Given the description of an element on the screen output the (x, y) to click on. 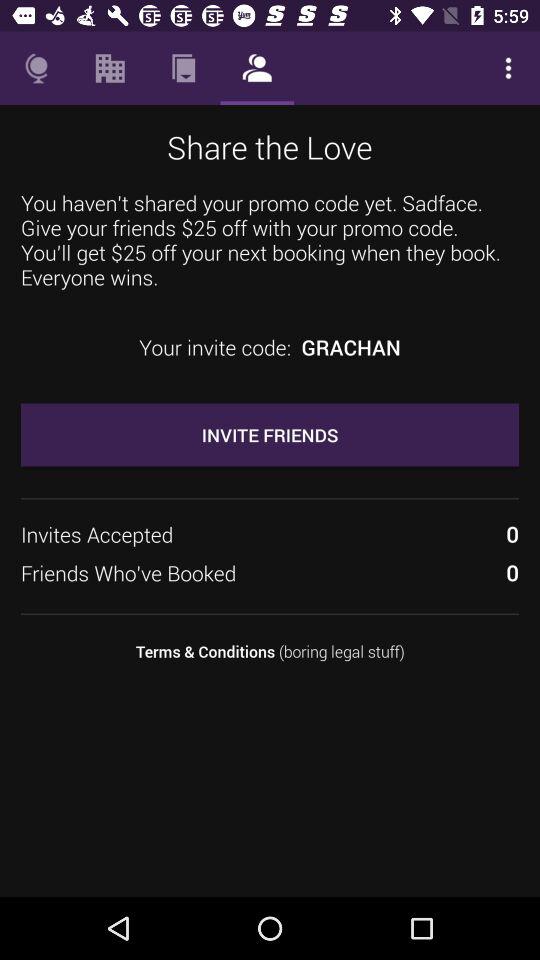
click icon above invite friends (350, 347)
